Given the description of an element on the screen output the (x, y) to click on. 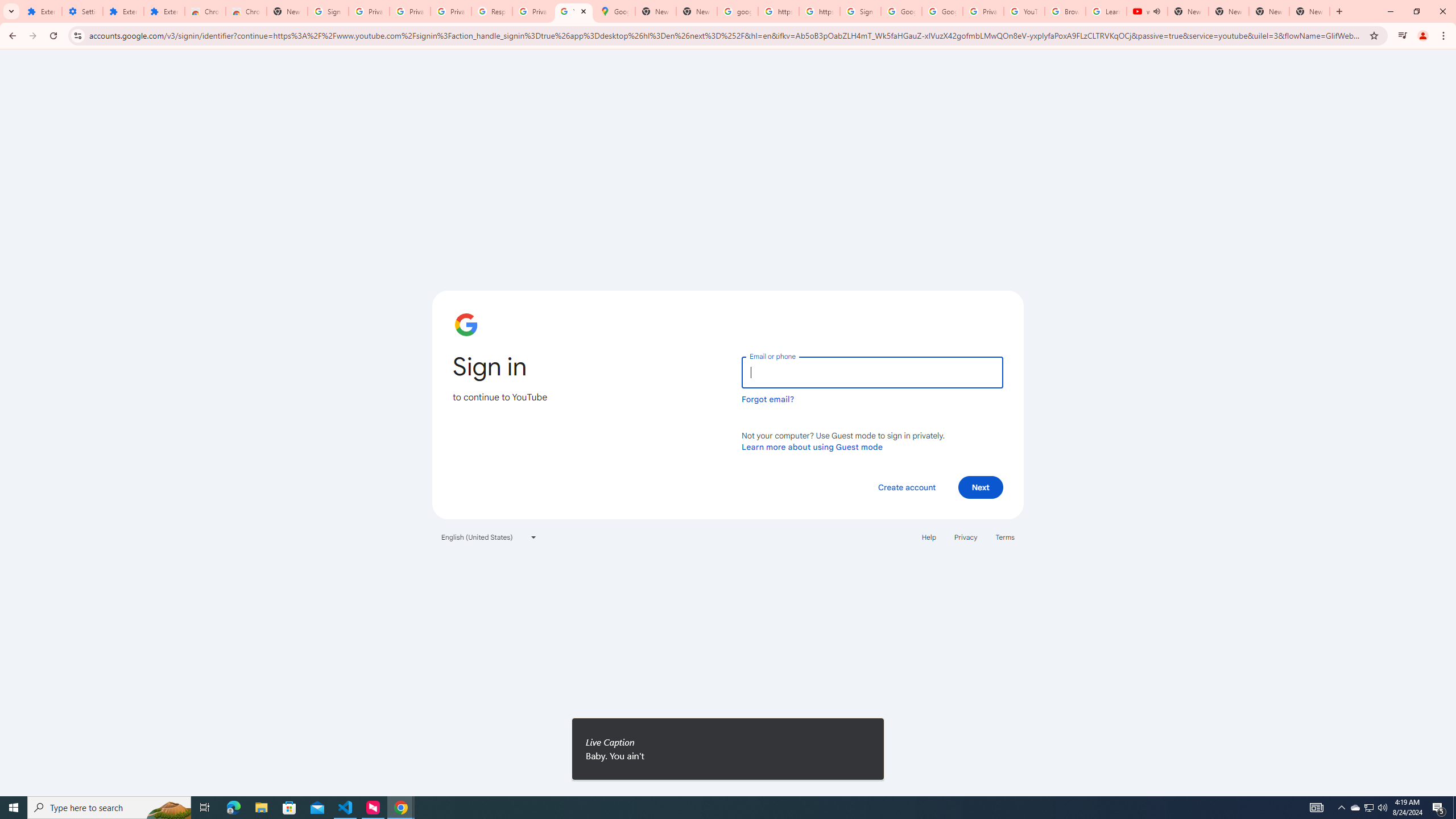
Forgot email? (767, 398)
Chrome Web Store (205, 11)
Email or phone (871, 372)
Chrome Web Store - Themes (246, 11)
